Given the description of an element on the screen output the (x, y) to click on. 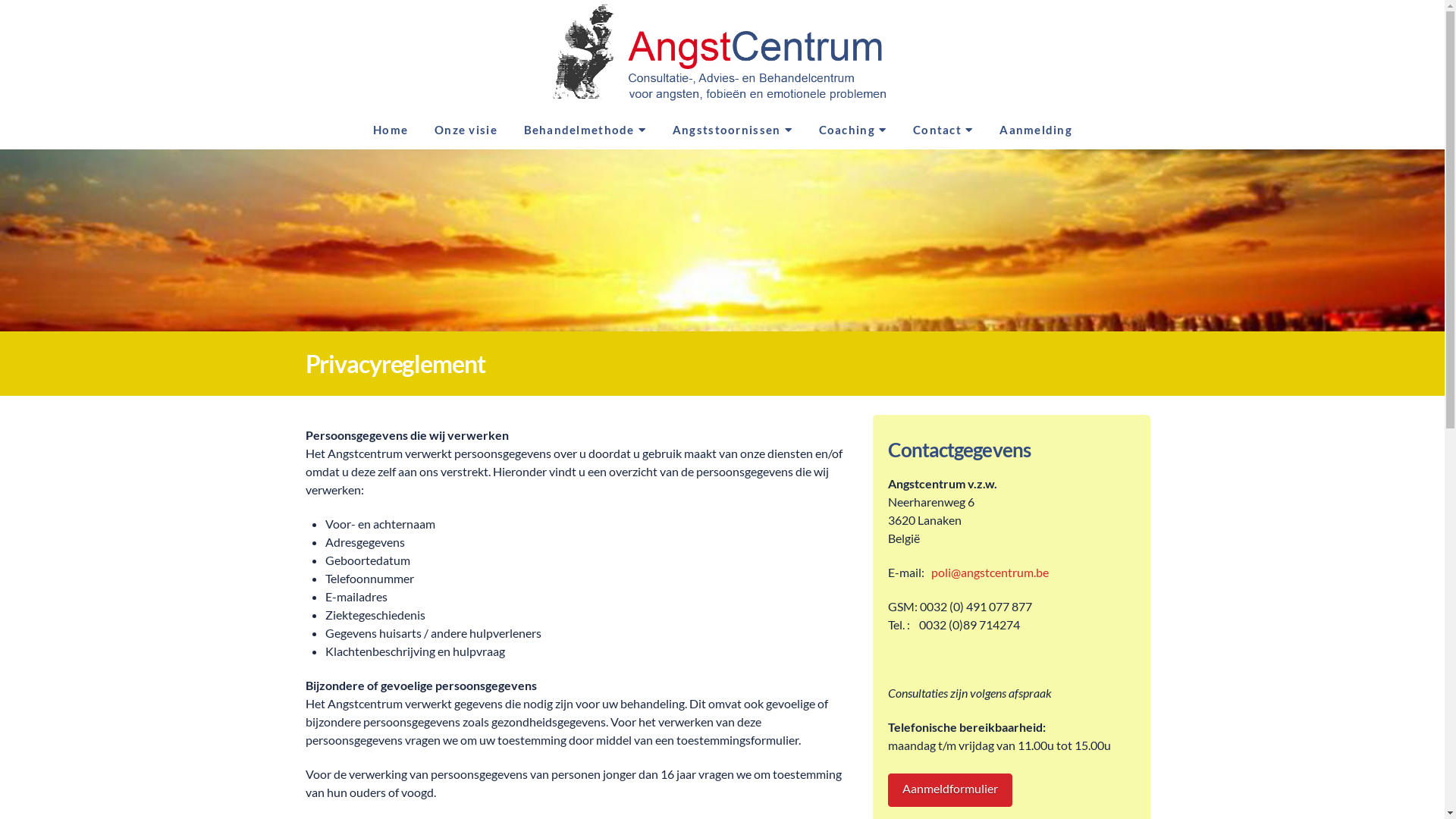
Coaching Element type: text (852, 132)
Angststoornissen Element type: text (731, 132)
Aanmeldformulier Element type: text (950, 790)
poli@angstcentrum.be Element type: text (989, 571)
Home Element type: text (389, 132)
Aanmelding Element type: text (1034, 132)
Onze visie Element type: text (464, 132)
Behandelmethode Element type: text (584, 132)
Contact Element type: text (942, 132)
